Given the description of an element on the screen output the (x, y) to click on. 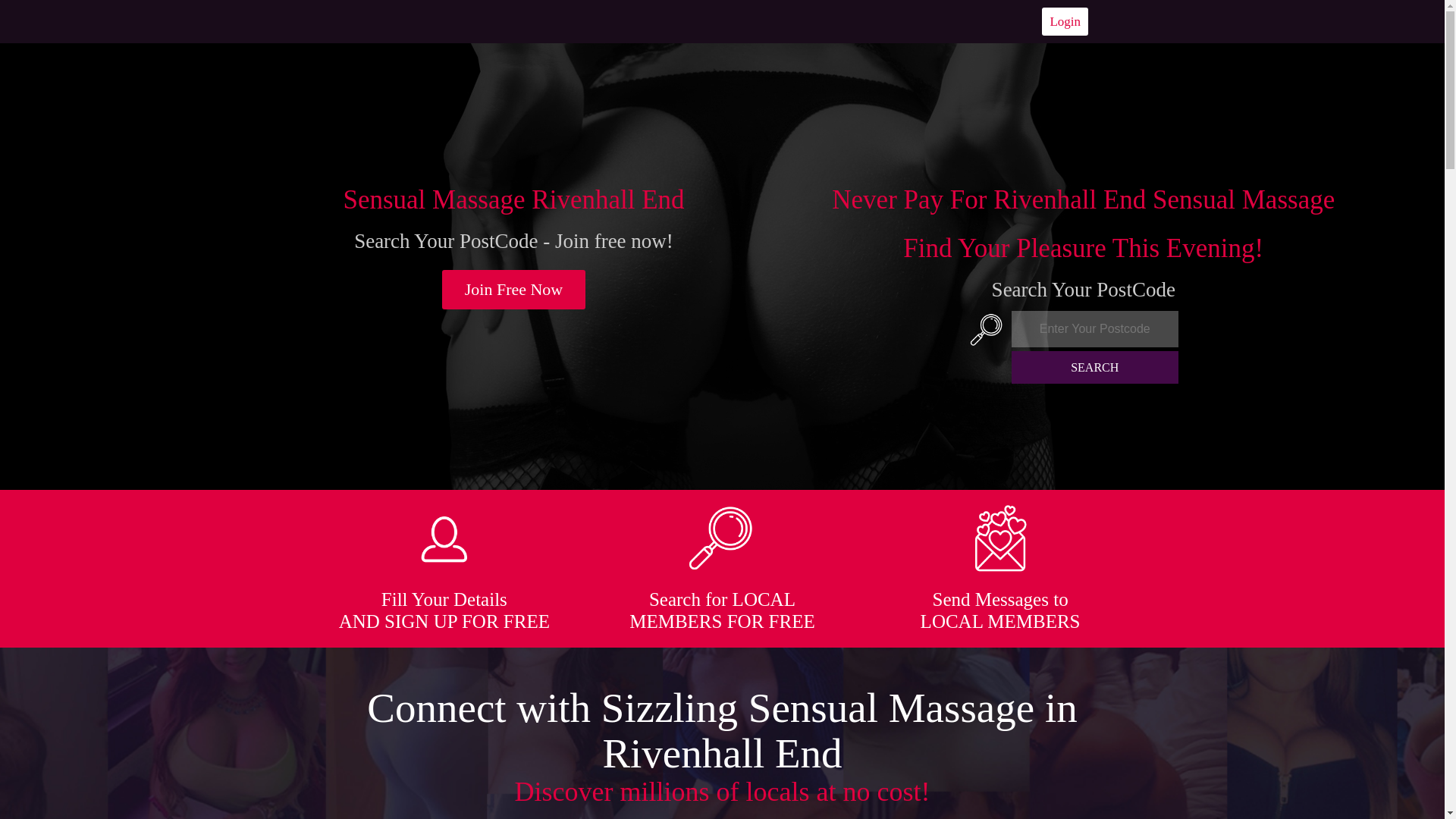
Join Free Now (514, 289)
Join (514, 289)
SEARCH (1094, 367)
Login (1064, 21)
Login (1064, 21)
